Given the description of an element on the screen output the (x, y) to click on. 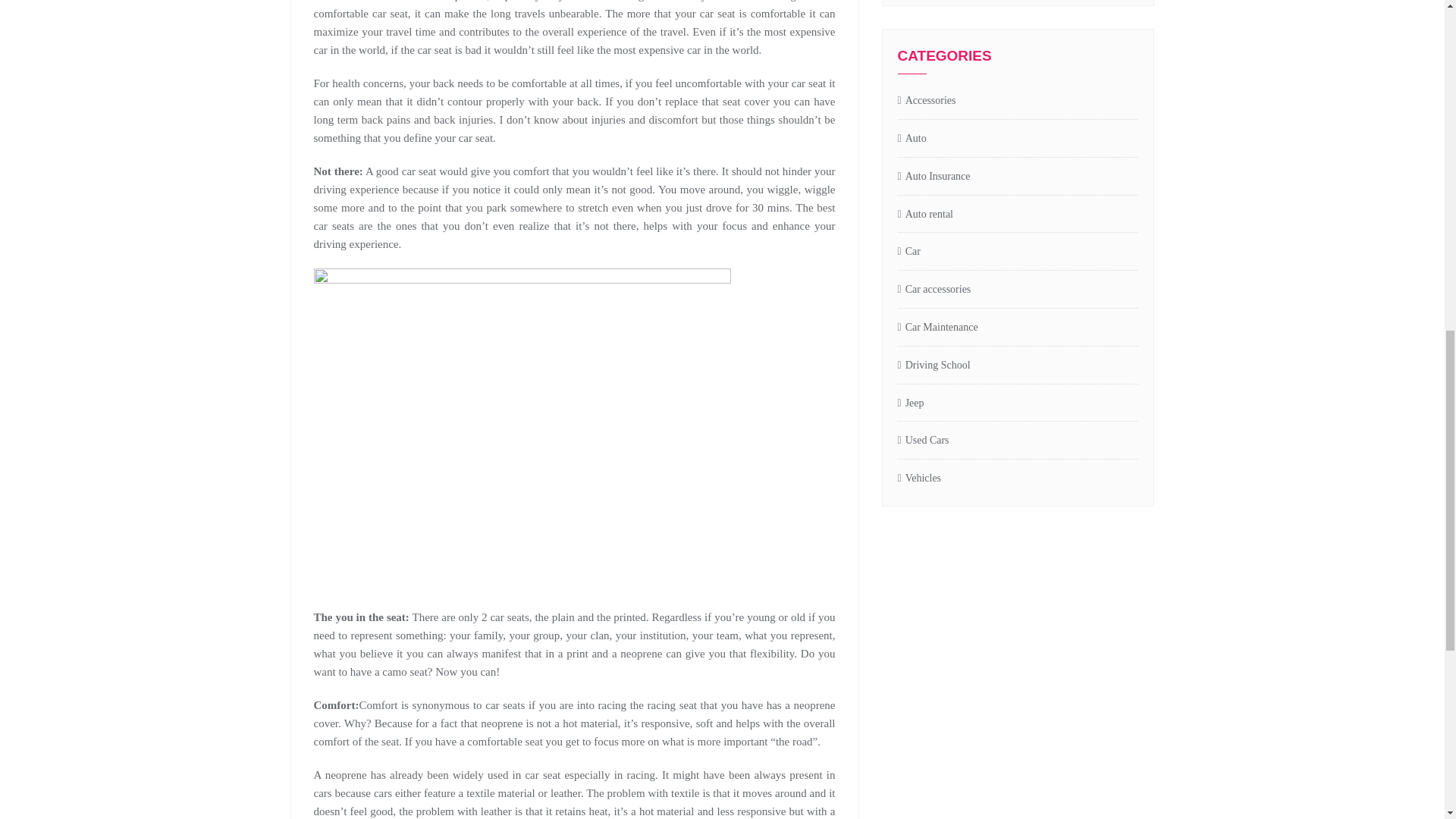
Accessories (927, 101)
Car (909, 251)
Auto (912, 138)
Auto rental (925, 214)
Car accessories (934, 290)
Jeep (911, 403)
Car Maintenance (938, 327)
Driving School (934, 365)
Used Cars (923, 440)
Vehicles (920, 478)
Auto Insurance (934, 177)
